Given the description of an element on the screen output the (x, y) to click on. 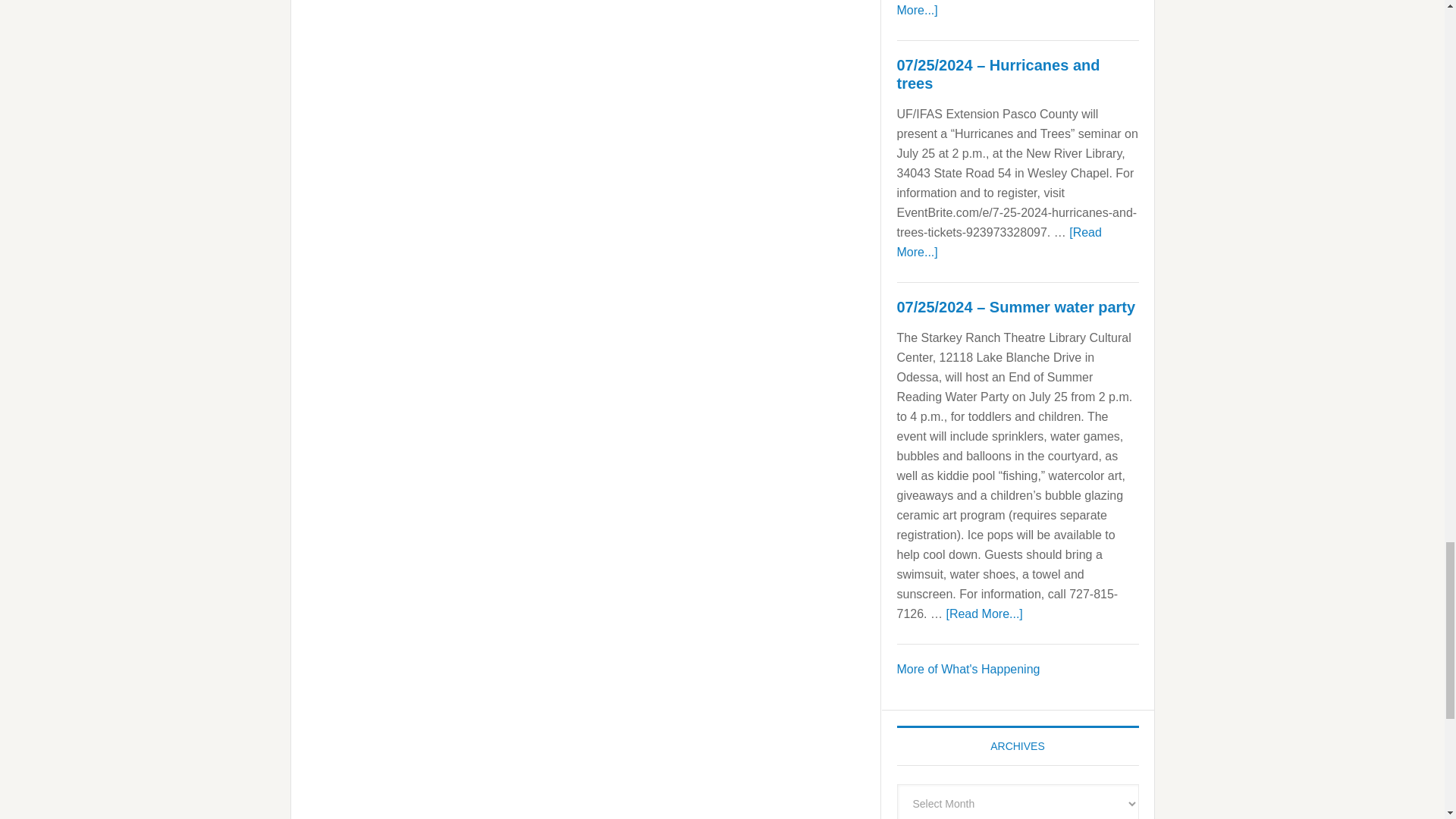
What's Happening (967, 668)
